Given the description of an element on the screen output the (x, y) to click on. 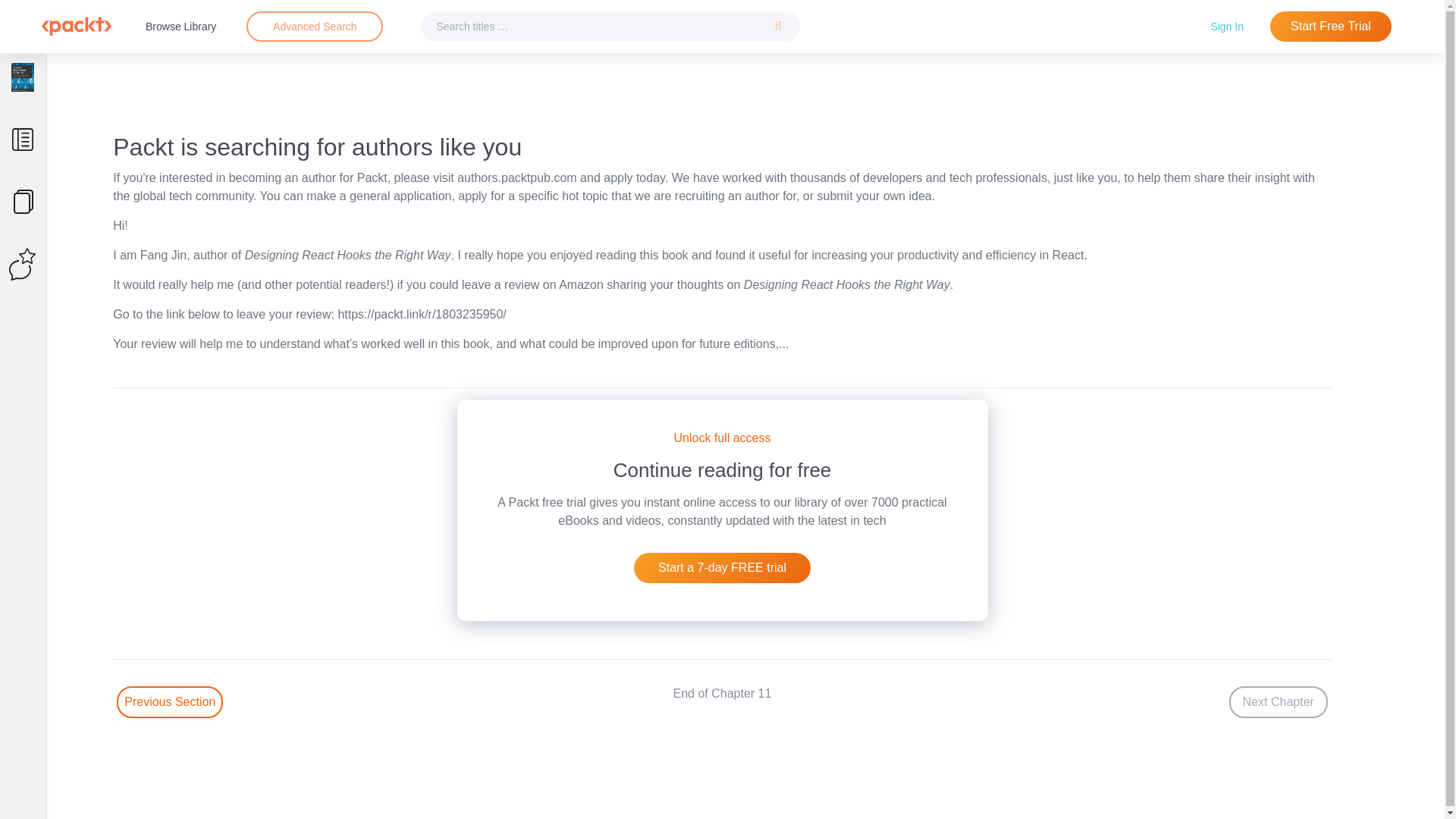
Go to next section (1277, 702)
Advanced search (314, 26)
Advanced Search (314, 26)
Advanced Search (315, 26)
Go to Previous section (169, 702)
Sign In (1227, 26)
Start Free Trial (1330, 26)
Browse Library (180, 26)
